Given the description of an element on the screen output the (x, y) to click on. 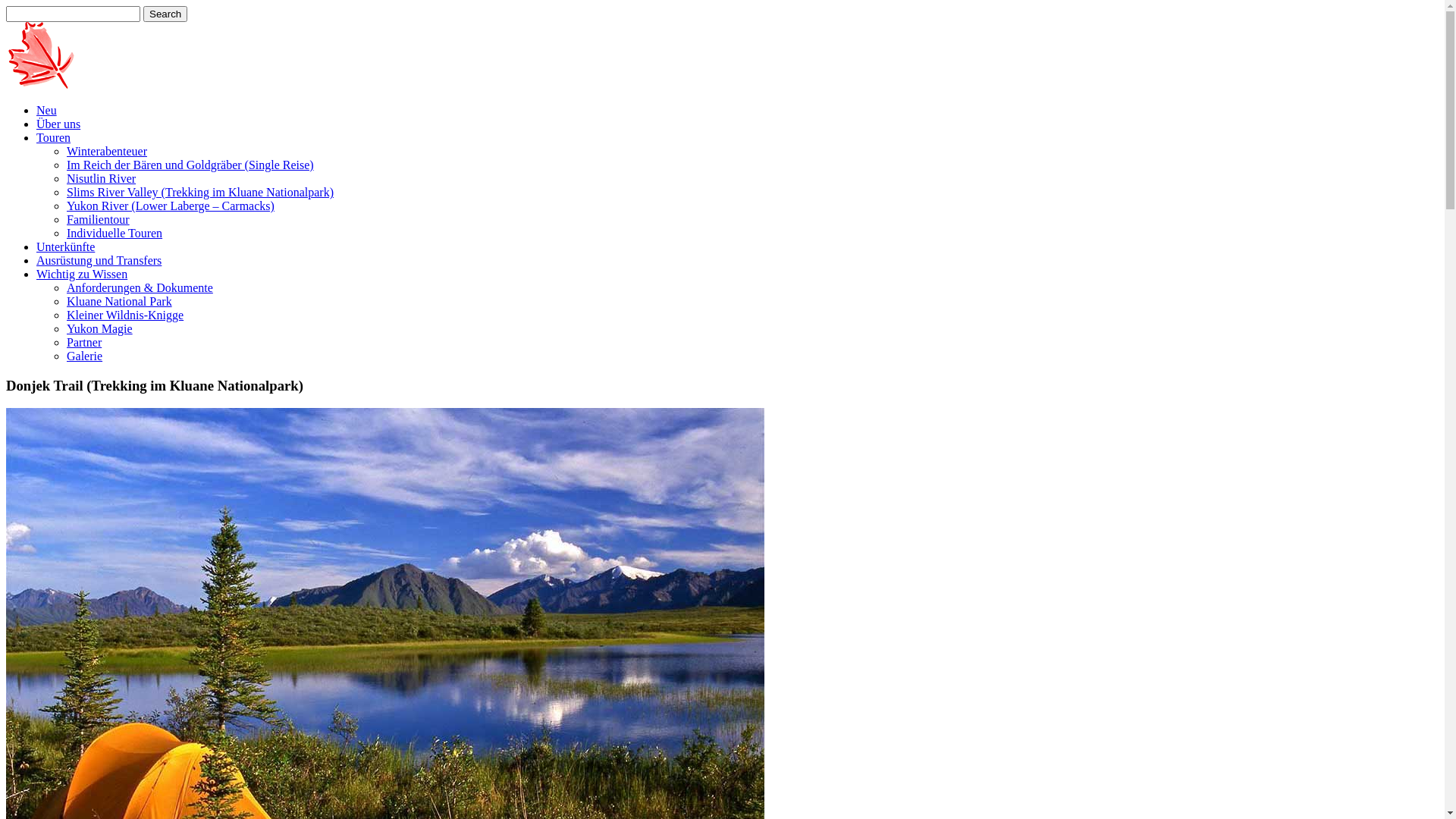
Anforderungen & Dokumente Element type: text (139, 287)
Wichtig zu Wissen Element type: text (81, 273)
Slims River Valley (Trekking im Kluane Nationalpark) Element type: text (199, 191)
Galerie Element type: text (84, 355)
Yukon Magie Element type: text (99, 328)
Winterabenteuer Element type: text (106, 150)
Partner Element type: text (83, 341)
Kleiner Wildnis-Knigge Element type: text (124, 314)
Search Element type: text (165, 13)
Neu Element type: text (46, 109)
Nisutlin River Element type: text (100, 178)
Individuelle Touren Element type: text (114, 232)
Familientour Element type: text (97, 219)
Kluane National Park Element type: text (119, 300)
Touren Element type: text (53, 137)
